Given the description of an element on the screen output the (x, y) to click on. 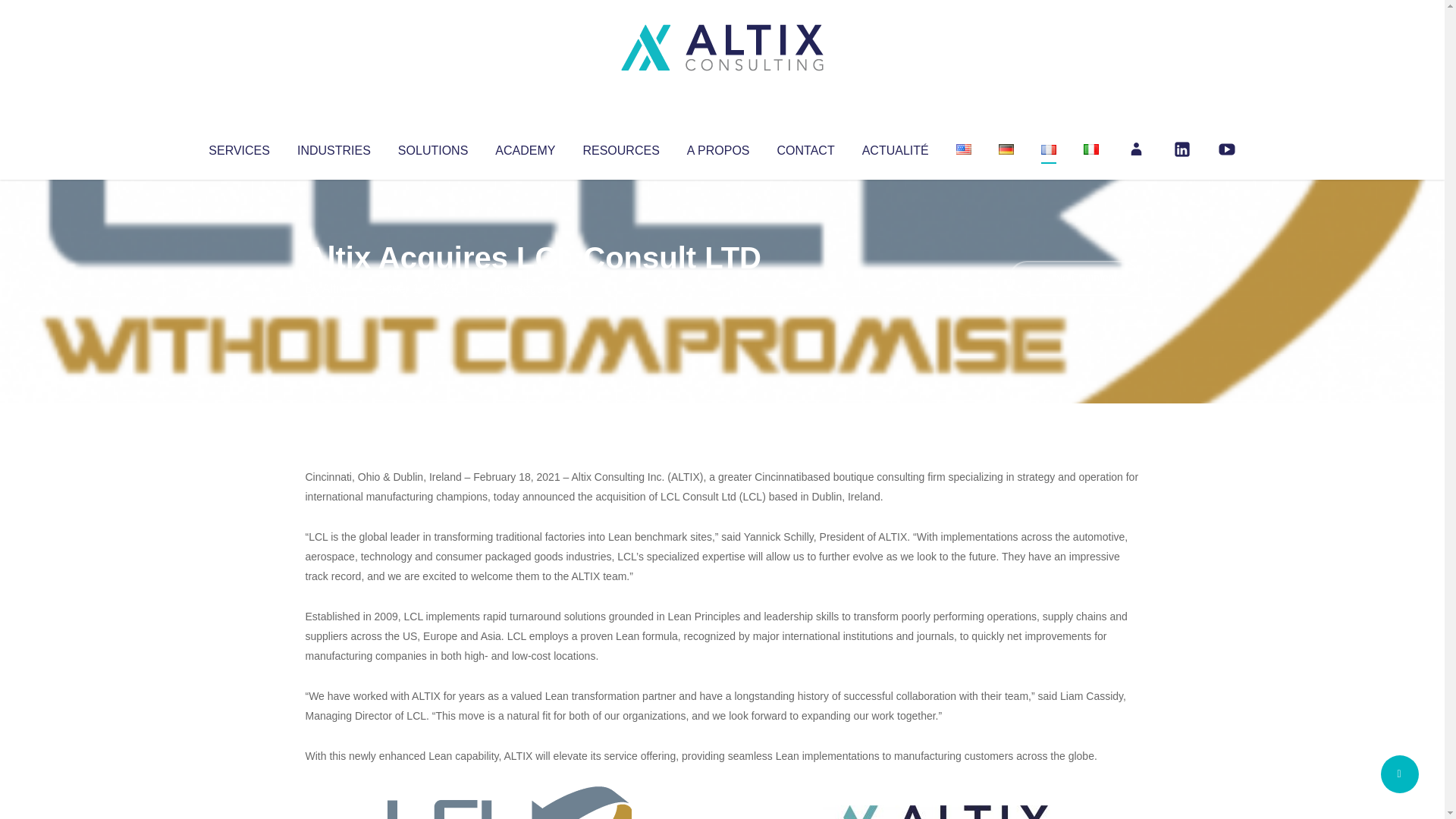
Uncategorized (530, 287)
A PROPOS (718, 146)
SOLUTIONS (432, 146)
RESOURCES (620, 146)
SERVICES (238, 146)
Altix (333, 287)
INDUSTRIES (334, 146)
ACADEMY (524, 146)
Articles par Altix (333, 287)
No Comments (1073, 278)
